Given the description of an element on the screen output the (x, y) to click on. 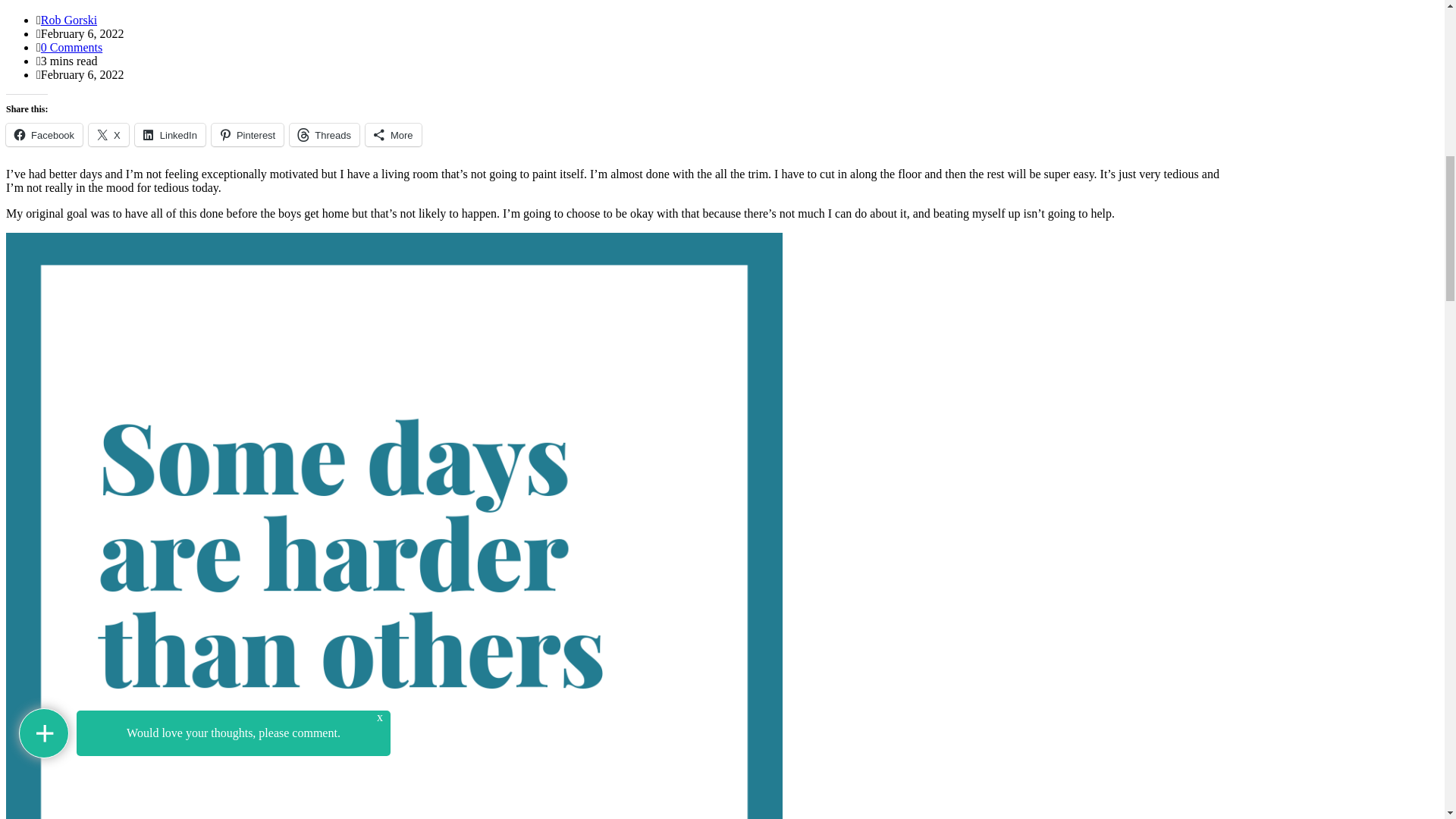
Click to share on Facebook (43, 134)
Click to share on Pinterest (247, 134)
0 Comments (70, 47)
Click to share on LinkedIn (170, 134)
Click to share on Threads (324, 134)
Posts by Rob Gorski (68, 19)
Click to share on X (108, 134)
Rob Gorski (68, 19)
Facebook (43, 134)
